Given the description of an element on the screen output the (x, y) to click on. 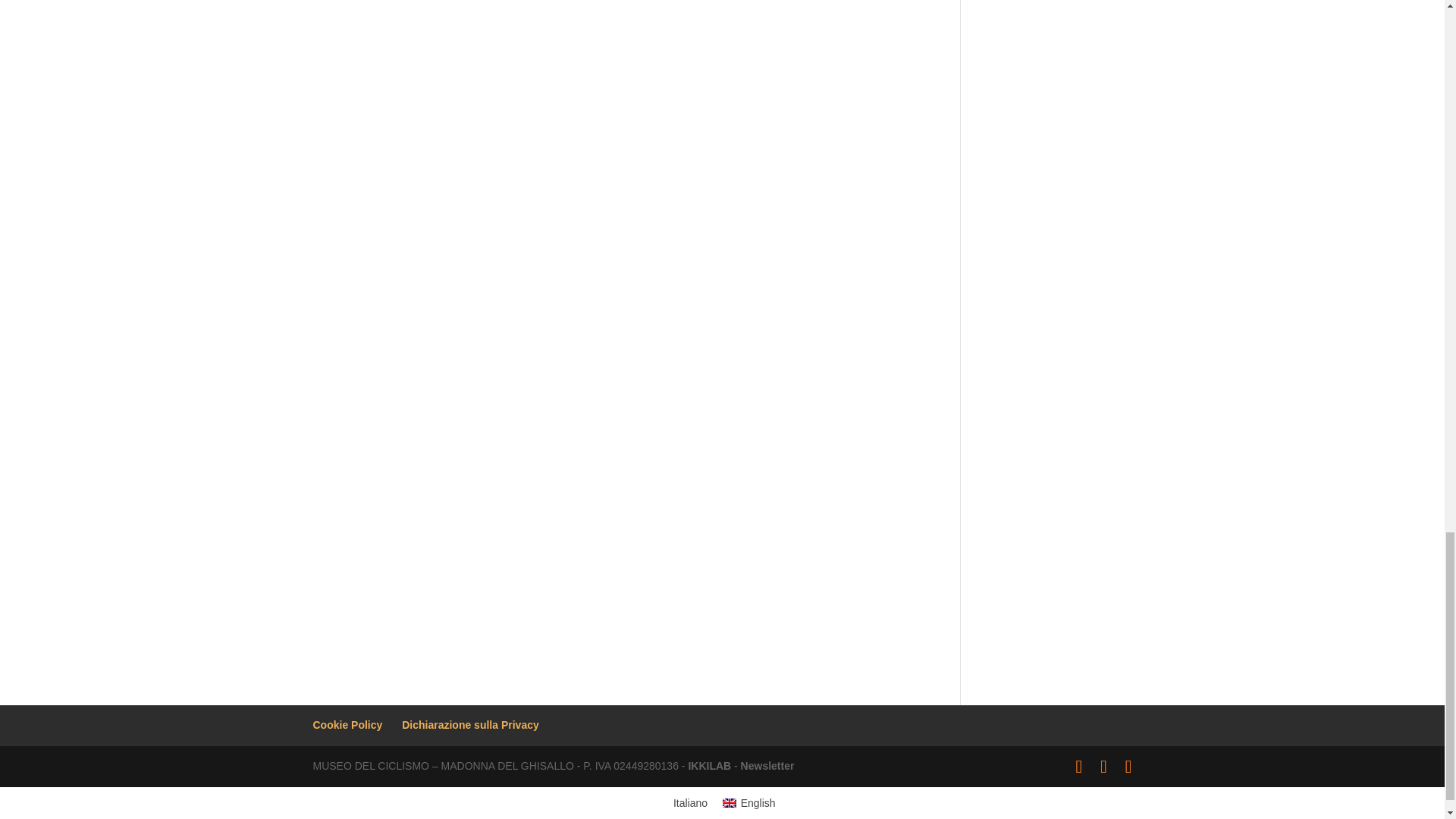
English (748, 803)
Newsletter (767, 766)
IKKILAB (708, 766)
Dichiarazione sulla Privacy (469, 725)
Cookie Policy (347, 725)
Italiano (687, 803)
